Given the description of an element on the screen output the (x, y) to click on. 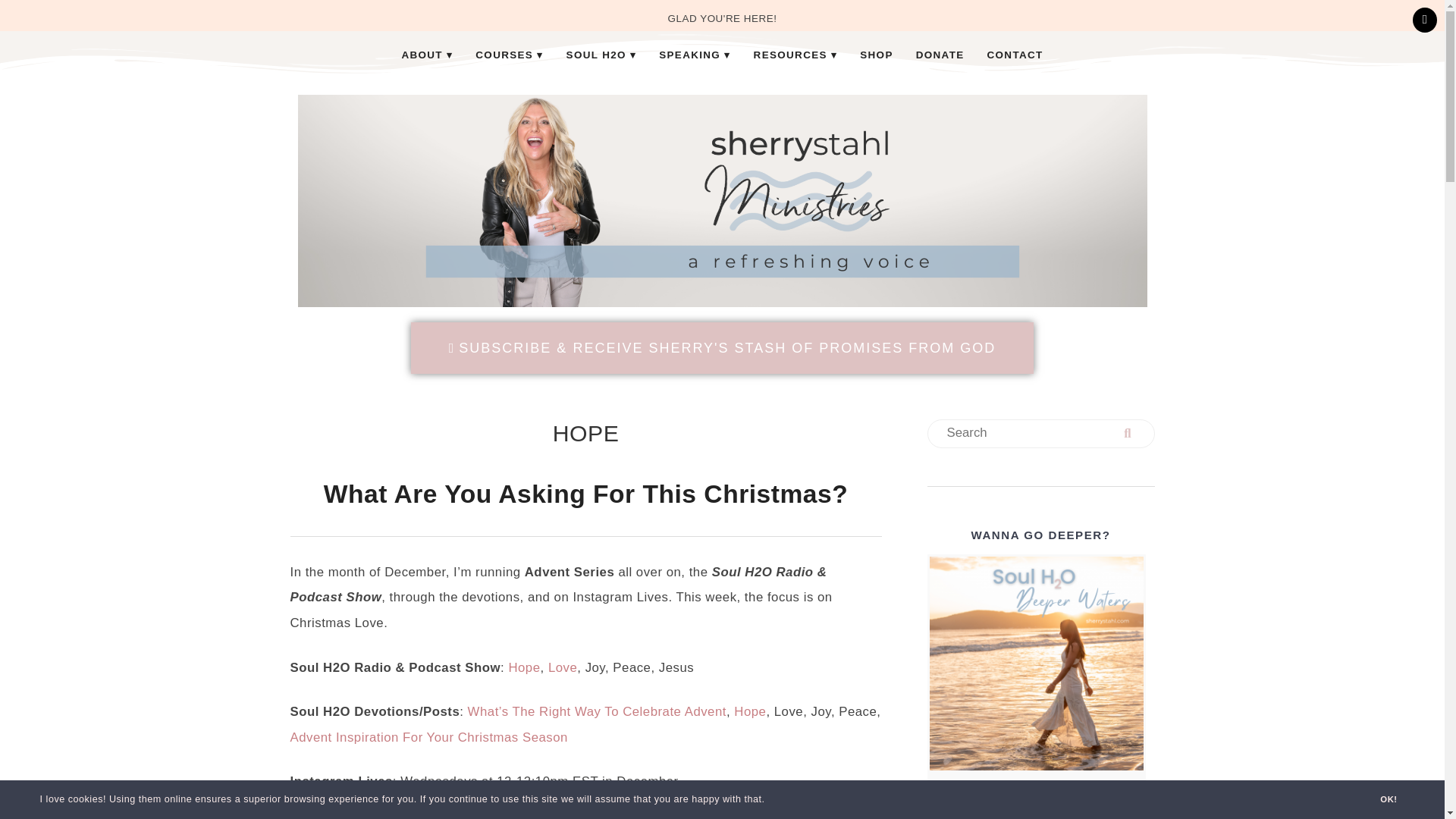
View your shopping cart (1424, 19)
CONTACT (1014, 54)
SPEAKING (694, 54)
Hope (524, 667)
COURSES (509, 54)
RESOURCES (795, 54)
Advent Inspiration For Your Christmas Season (428, 737)
SOUL H2O (600, 54)
DONATE (939, 54)
ABOUT (427, 54)
What Are You Asking For This Christmas? (585, 493)
Hope (749, 711)
OK! (1387, 798)
SHOP (876, 54)
Love (562, 667)
